Given the description of an element on the screen output the (x, y) to click on. 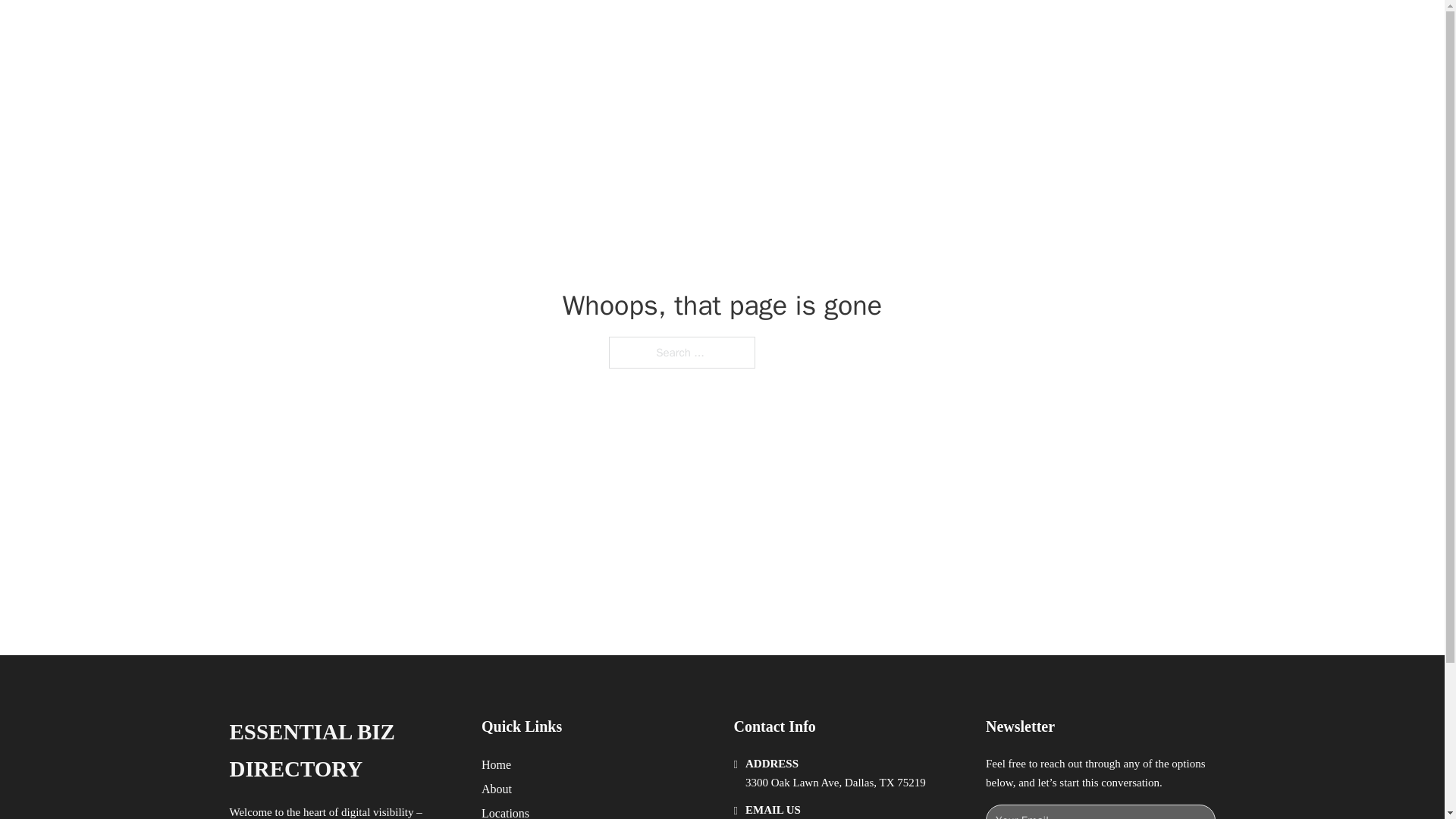
LOCATIONS (978, 29)
Home (496, 764)
HOME (907, 29)
Locations (505, 811)
ESSENTIAL BIZ DIRECTORY (343, 750)
About (496, 788)
